Given the description of an element on the screen output the (x, y) to click on. 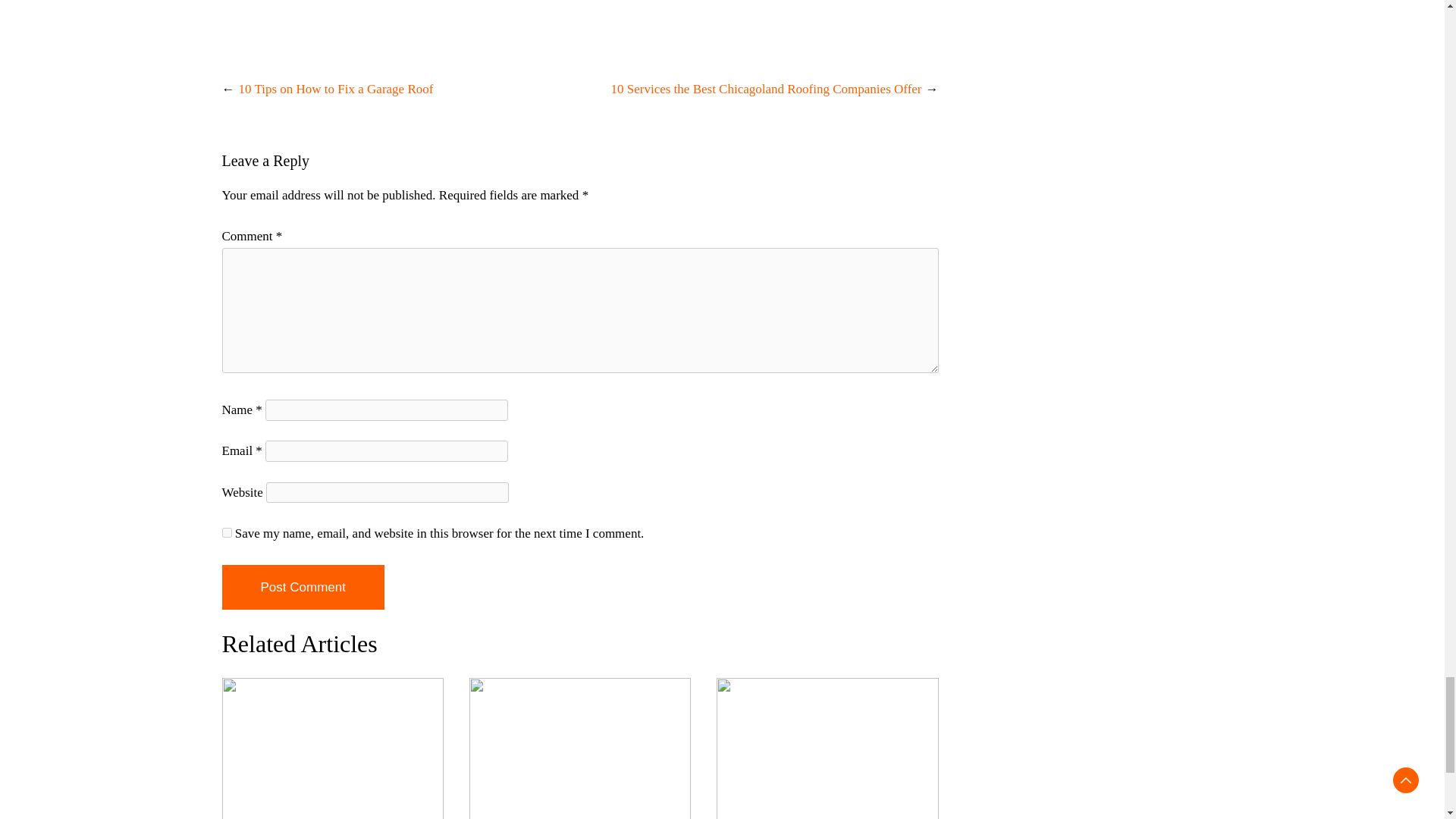
Post Comment (302, 587)
10 Tips on How to Fix a Garage Roof (335, 88)
10 Services the Best Chicagoland Roofing Companies Offer (766, 88)
yes (226, 532)
Post Comment (302, 587)
